Given the description of an element on the screen output the (x, y) to click on. 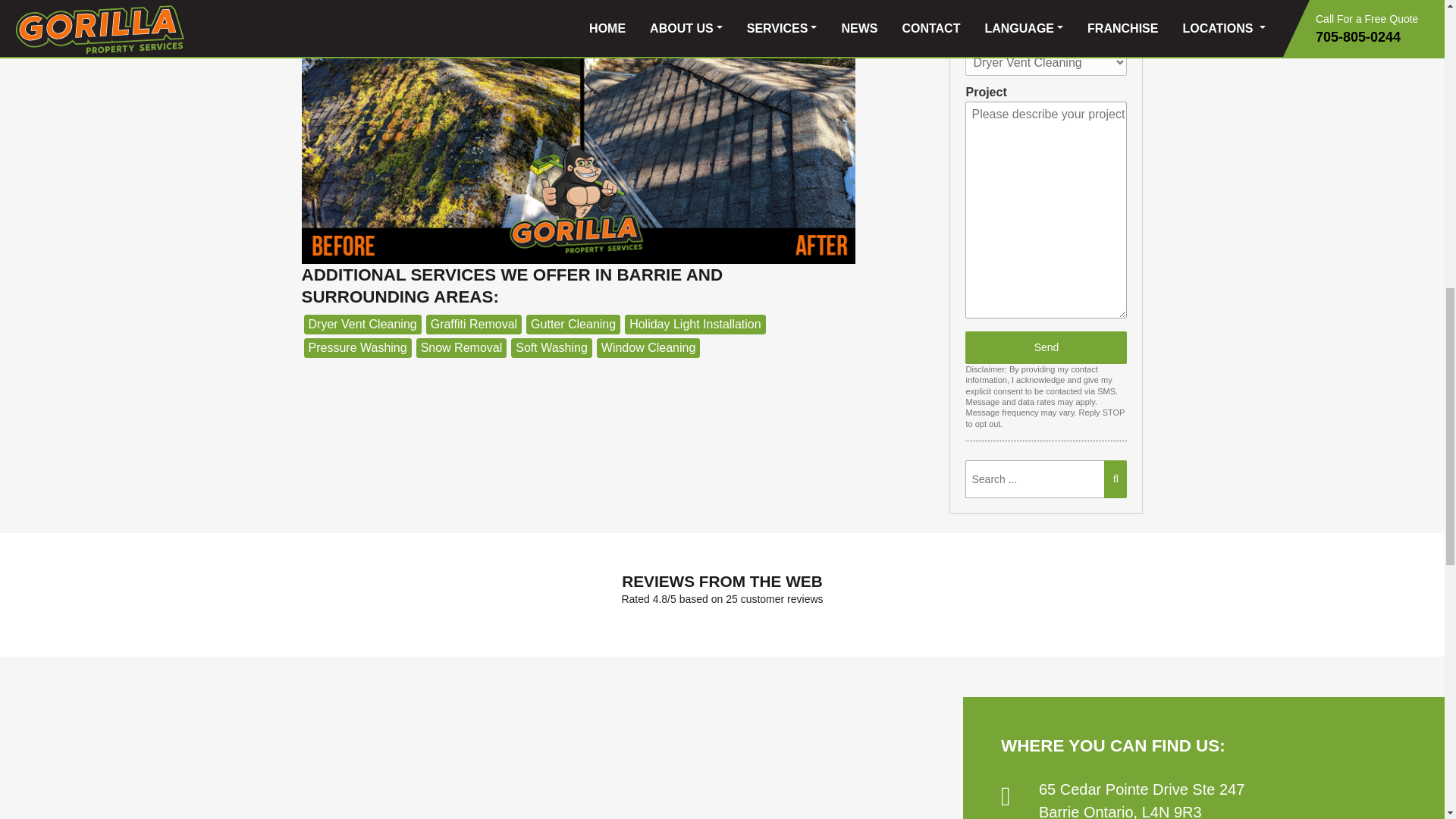
Barrie Holiday Light Installation (694, 324)
Search for: (1044, 478)
Barrie Pressure Washing (356, 347)
Barrie Soft Washing (551, 347)
Barrie Gutter Cleaning (572, 324)
Barrie Dryer Vent Cleaning (361, 324)
Barrie Snow Removal (461, 347)
Barrie Window Cleaning (648, 347)
Barrie Graffiti Removal (473, 324)
Gorilla Property Services Barrie (481, 756)
Send (1045, 347)
